Given the description of an element on the screen output the (x, y) to click on. 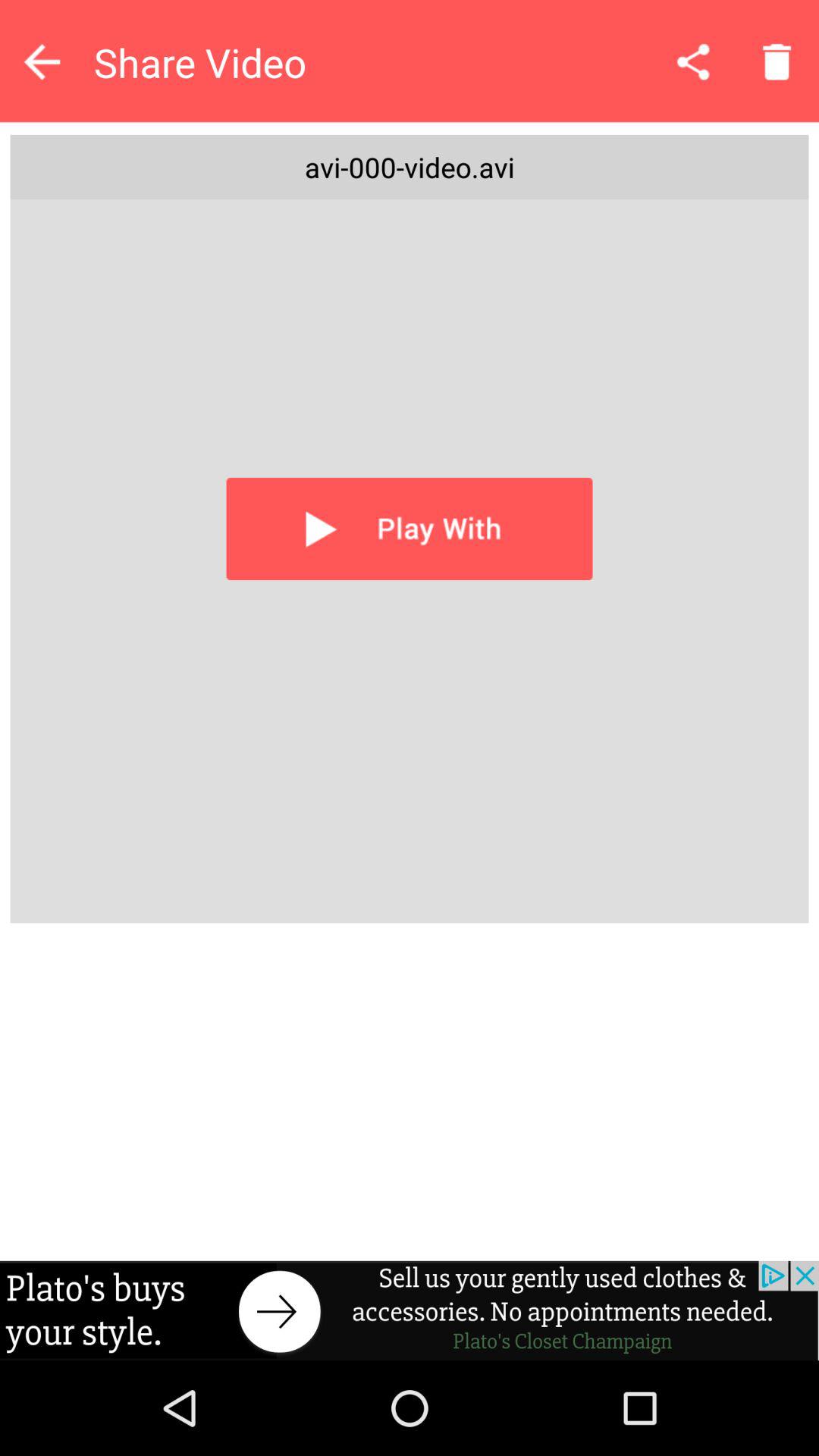
go back (41, 61)
